Given the description of an element on the screen output the (x, y) to click on. 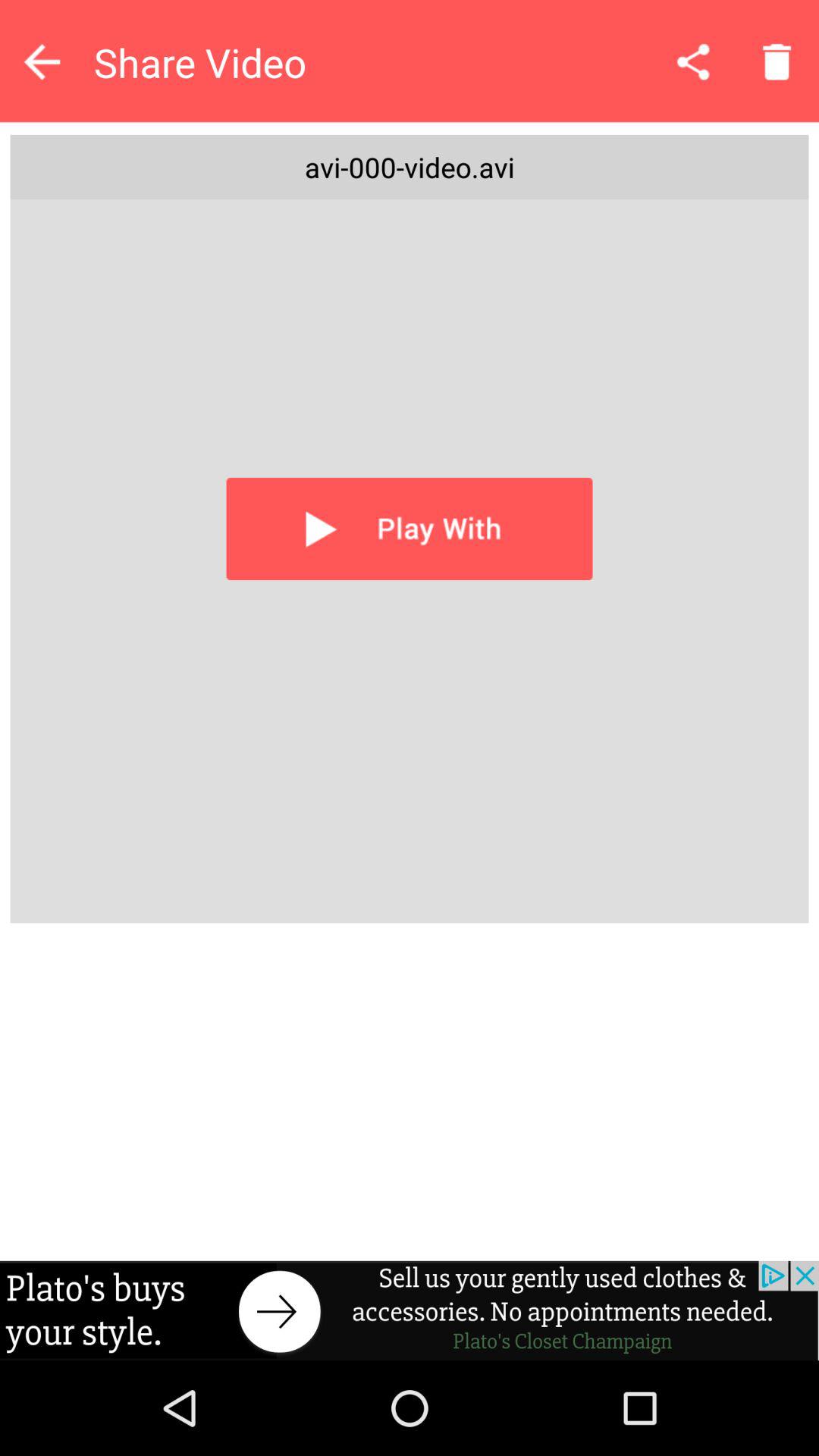
go back (41, 61)
